Given the description of an element on the screen output the (x, y) to click on. 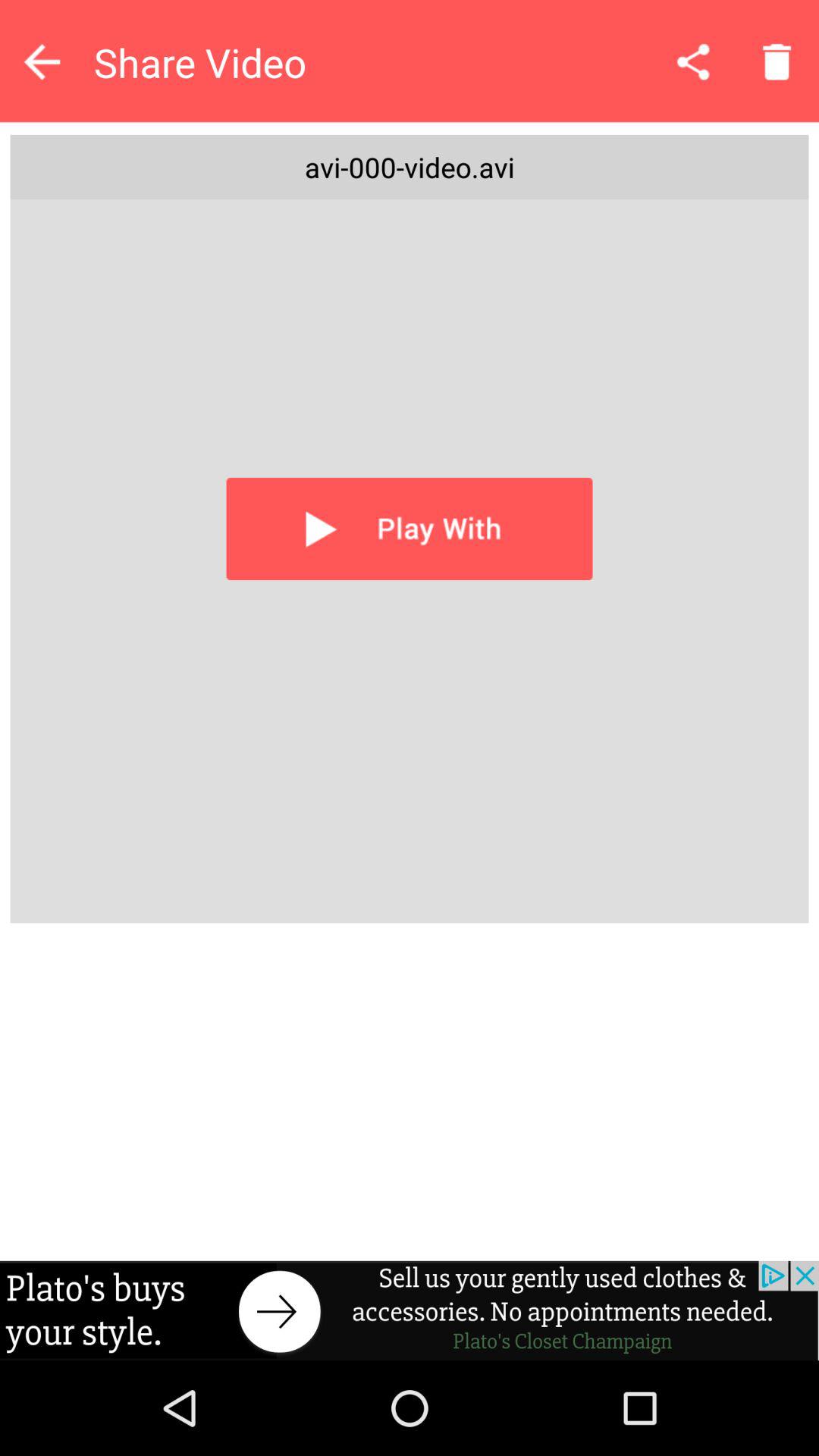
go back (41, 61)
